Given the description of an element on the screen output the (x, y) to click on. 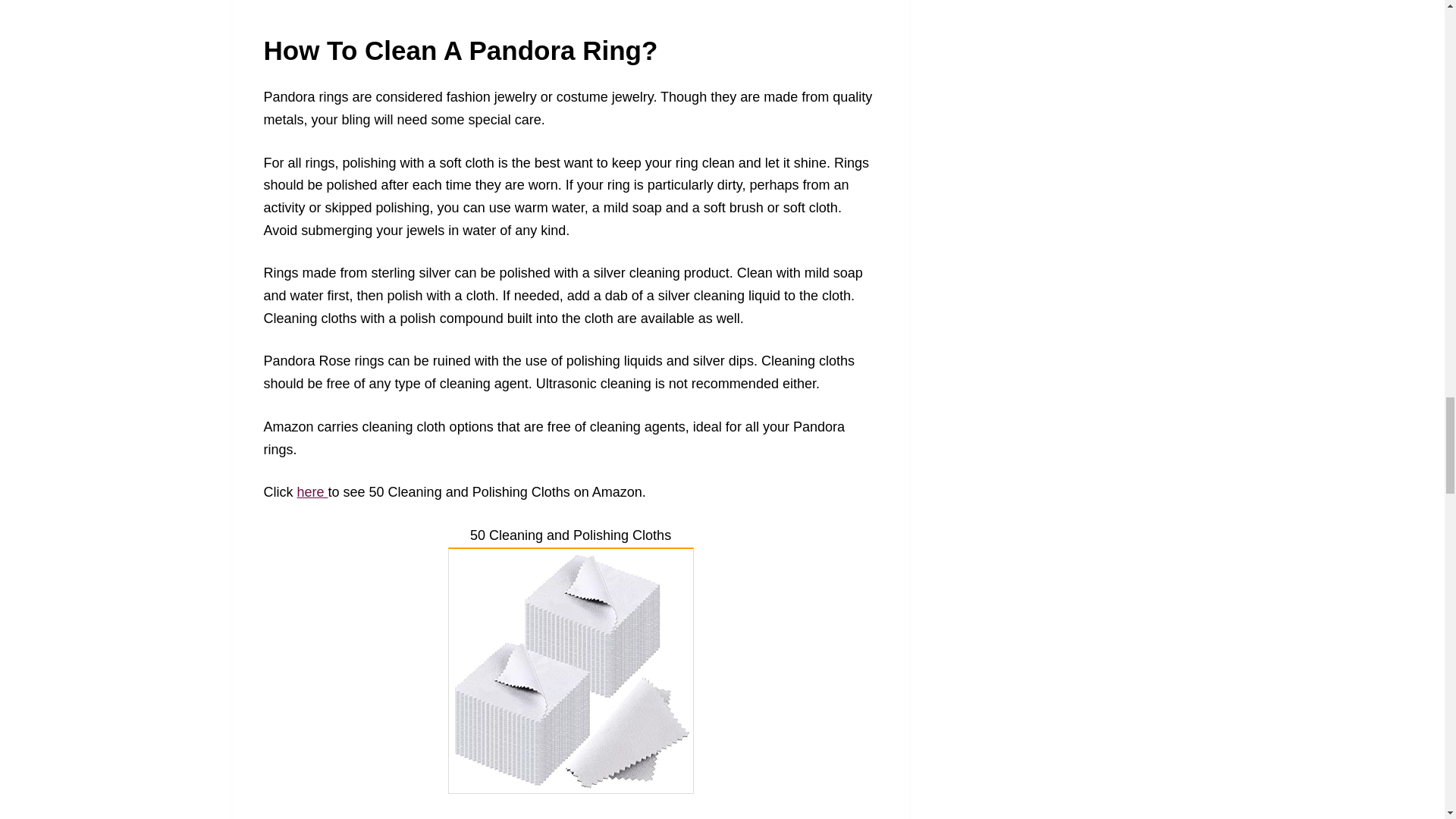
here (313, 818)
here (313, 491)
